Given the description of an element on the screen output the (x, y) to click on. 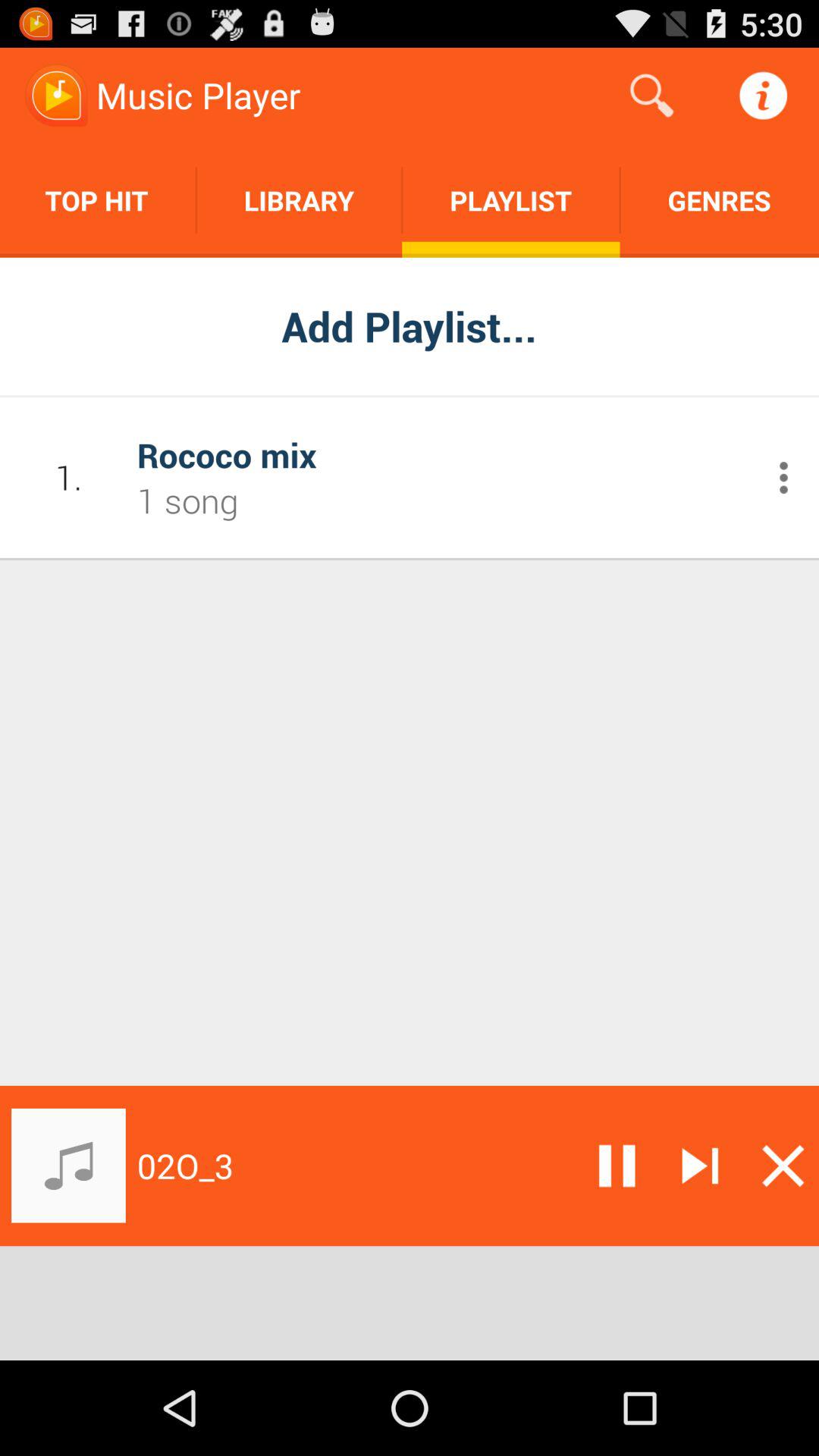
next music (699, 1165)
